Given the description of an element on the screen output the (x, y) to click on. 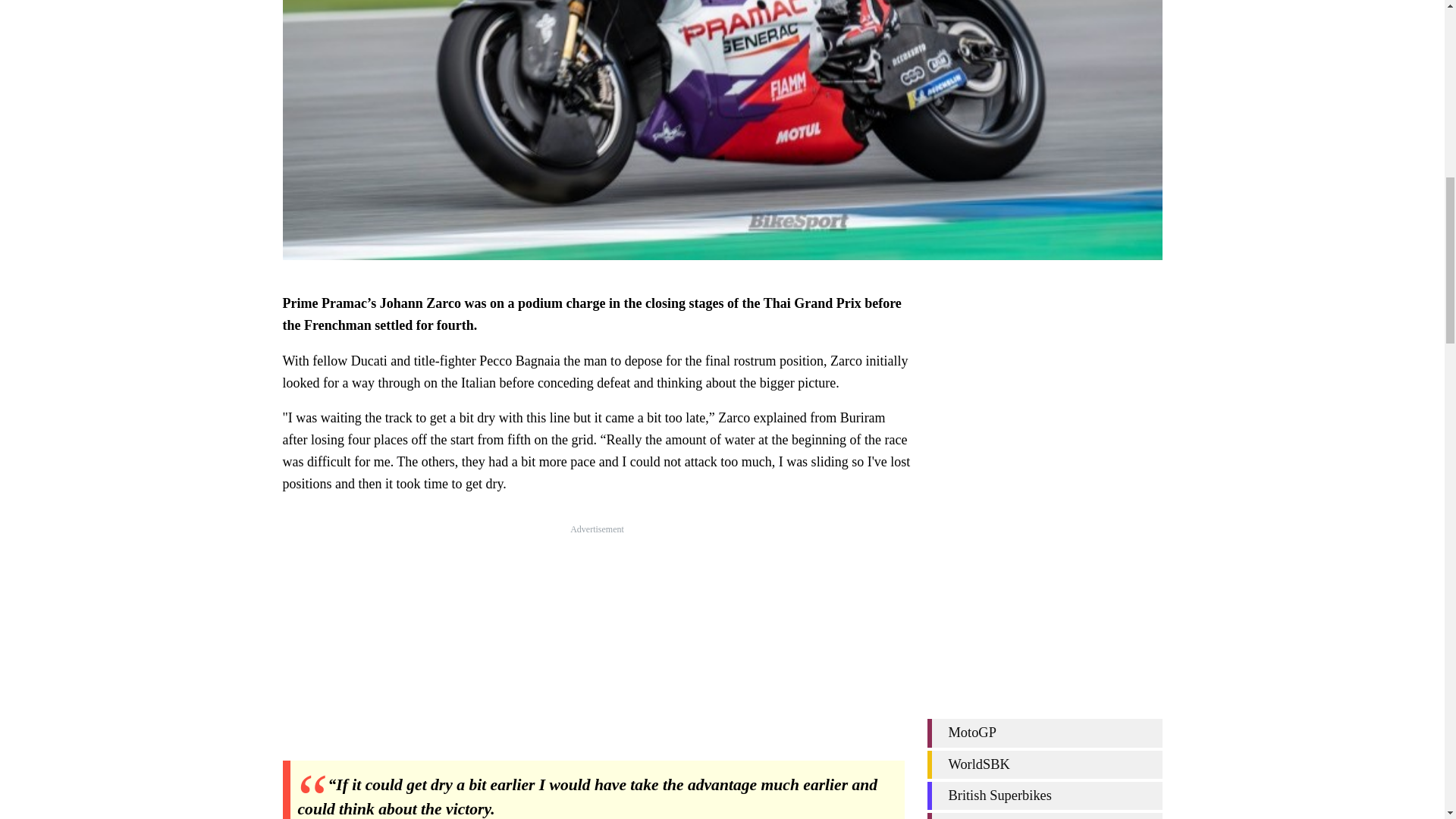
WorldSBK (1043, 764)
Big Read (1043, 816)
British Superbikes (1043, 795)
MotoGP (1043, 732)
